Given the description of an element on the screen output the (x, y) to click on. 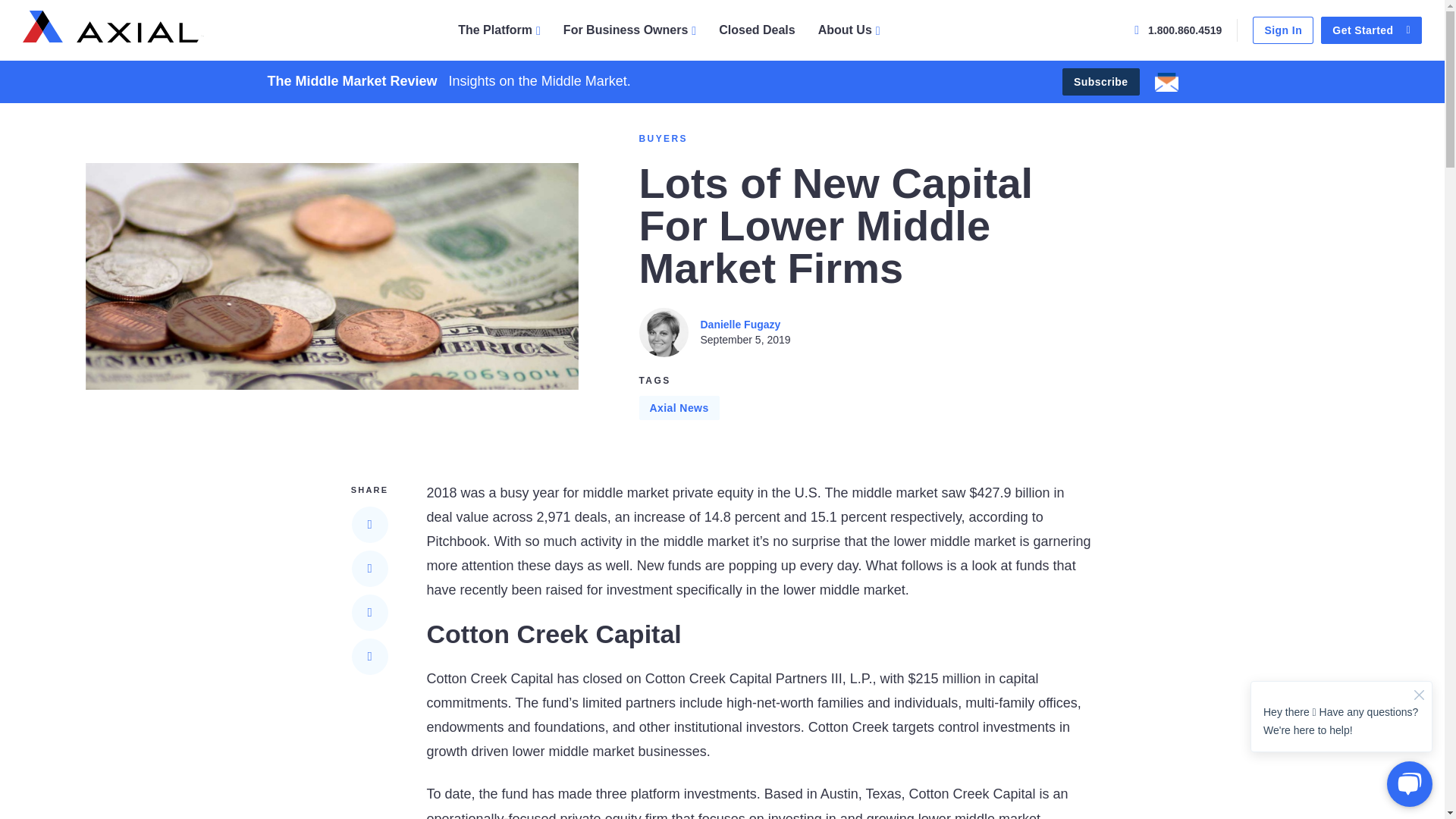
The Platform (499, 29)
For Business Owners (629, 29)
Get Started (1371, 30)
About Us (849, 29)
Sign In (1282, 30)
1.800.860.4519 (1177, 29)
Closed Deals (756, 29)
